Given the description of an element on the screen output the (x, y) to click on. 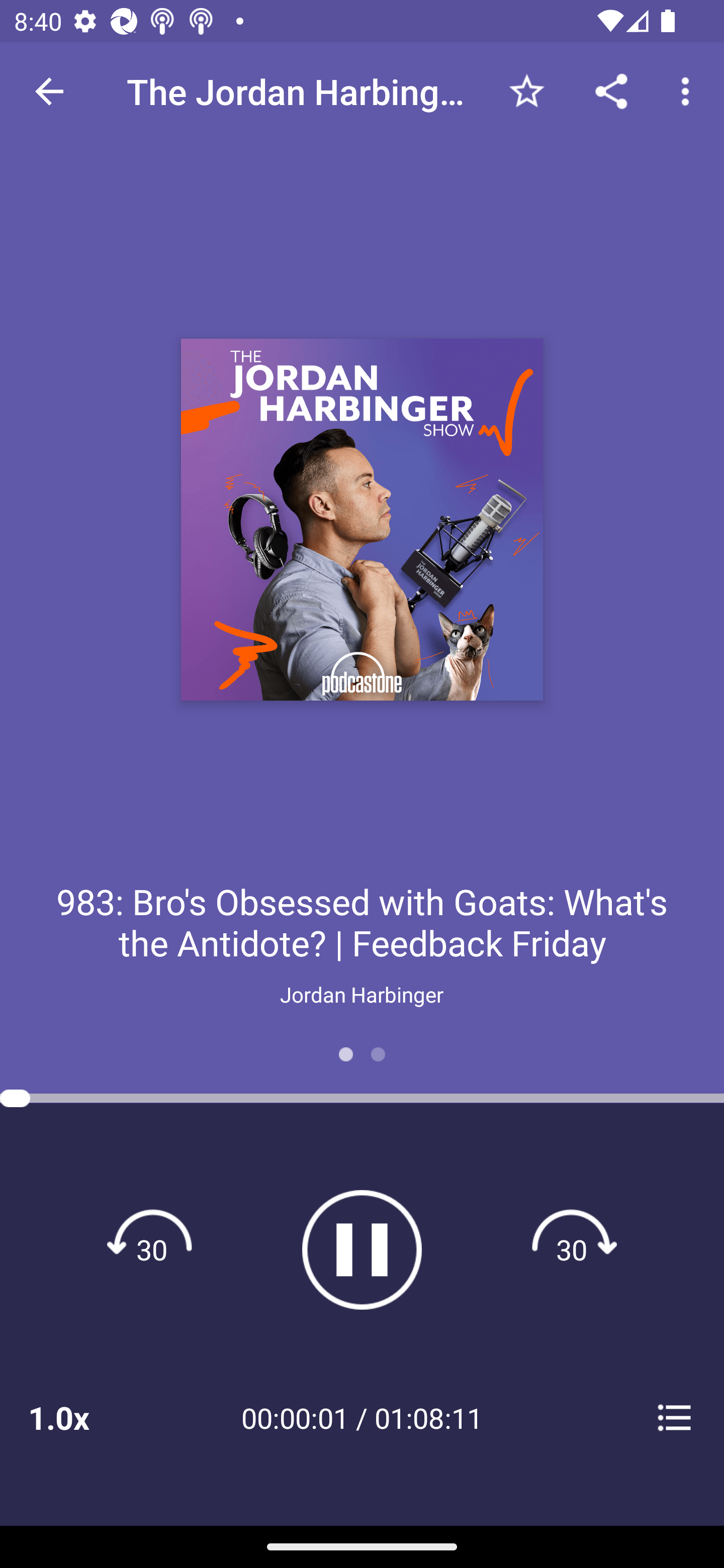
Navigate up (49, 91)
Add to Favorites (526, 90)
Share... (611, 90)
More options (688, 90)
Jordan Harbinger (361, 994)
Pause (361, 1249)
Rewind (151, 1249)
Fast forward (571, 1249)
1.0x Playback Speeds (84, 1417)
01:08:11 (428, 1417)
